Given the description of an element on the screen output the (x, y) to click on. 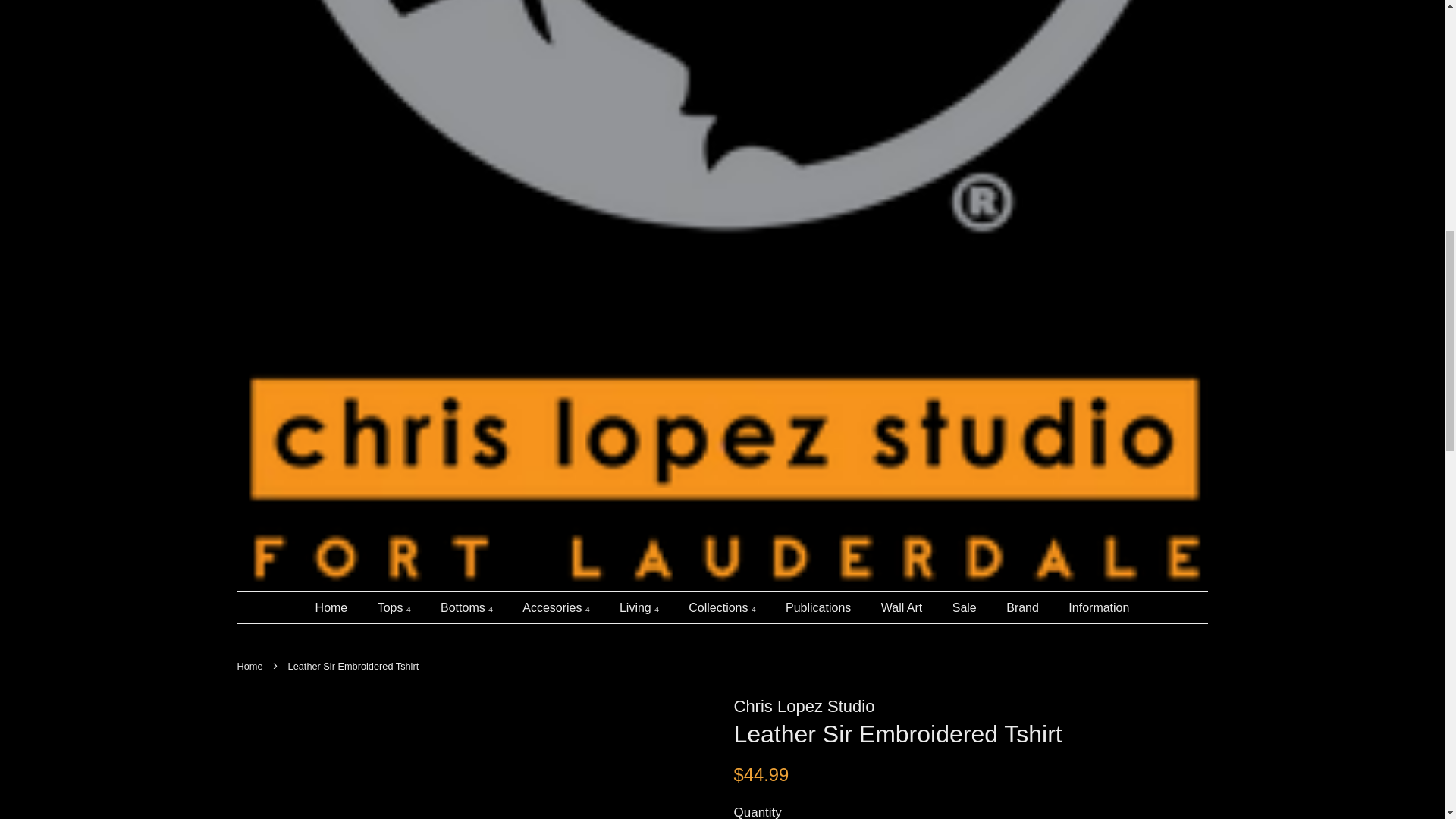
Back to the frontpage (250, 665)
